Given the description of an element on the screen output the (x, y) to click on. 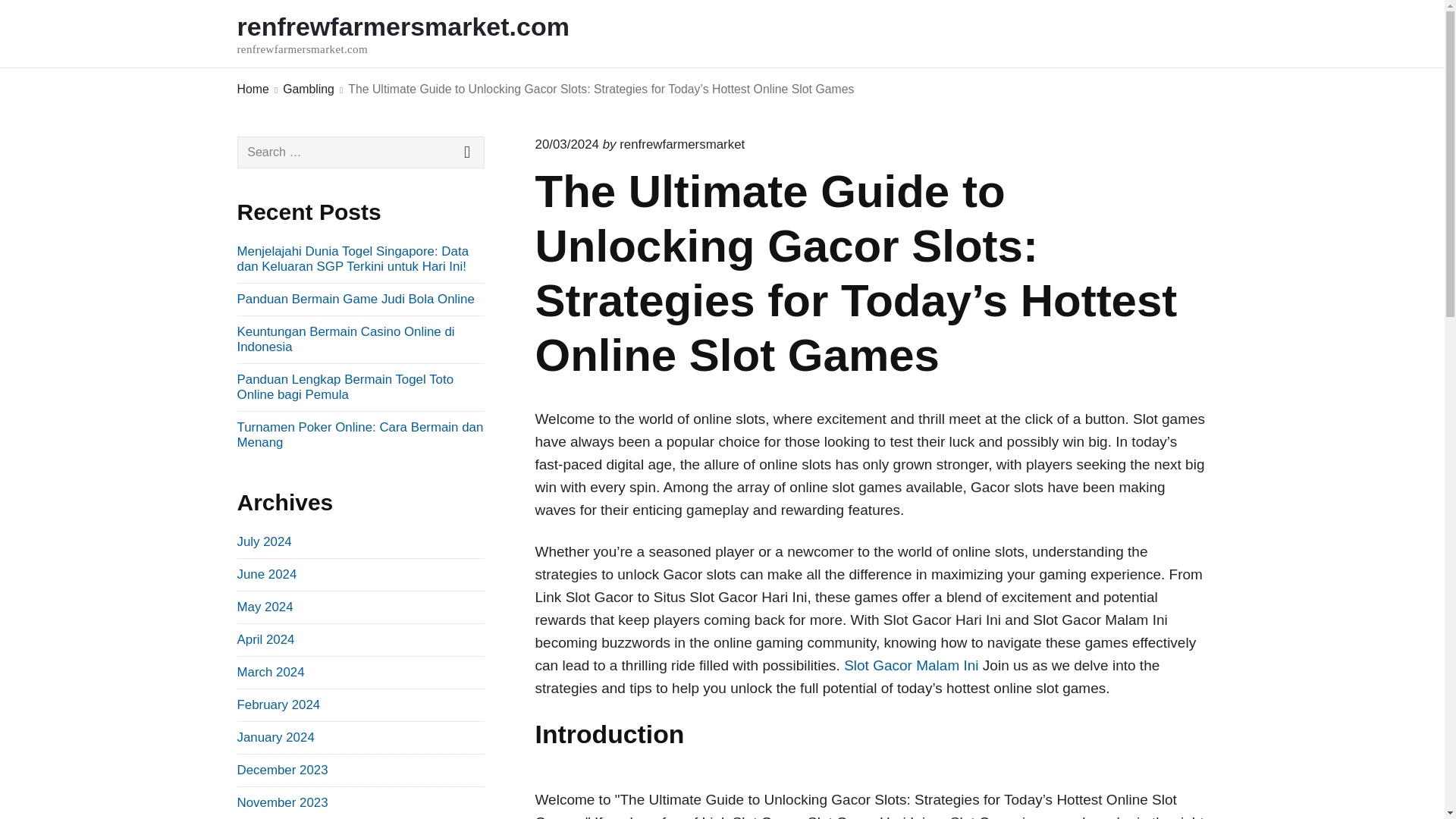
December 2023 (281, 769)
Wednesday, March 20, 2024, 2:07 pm (566, 144)
Panduan Bermain Game Judi Bola Online (422, 33)
November 2023 (354, 298)
July 2024 (281, 802)
Search for: (263, 541)
Gambling (359, 152)
April 2024 (308, 89)
March 2024 (264, 639)
Slot Gacor Malam Ini (269, 672)
January 2024 (911, 665)
Turnamen Poker Online: Cara Bermain dan Menang (274, 737)
Home (359, 434)
